Given the description of an element on the screen output the (x, y) to click on. 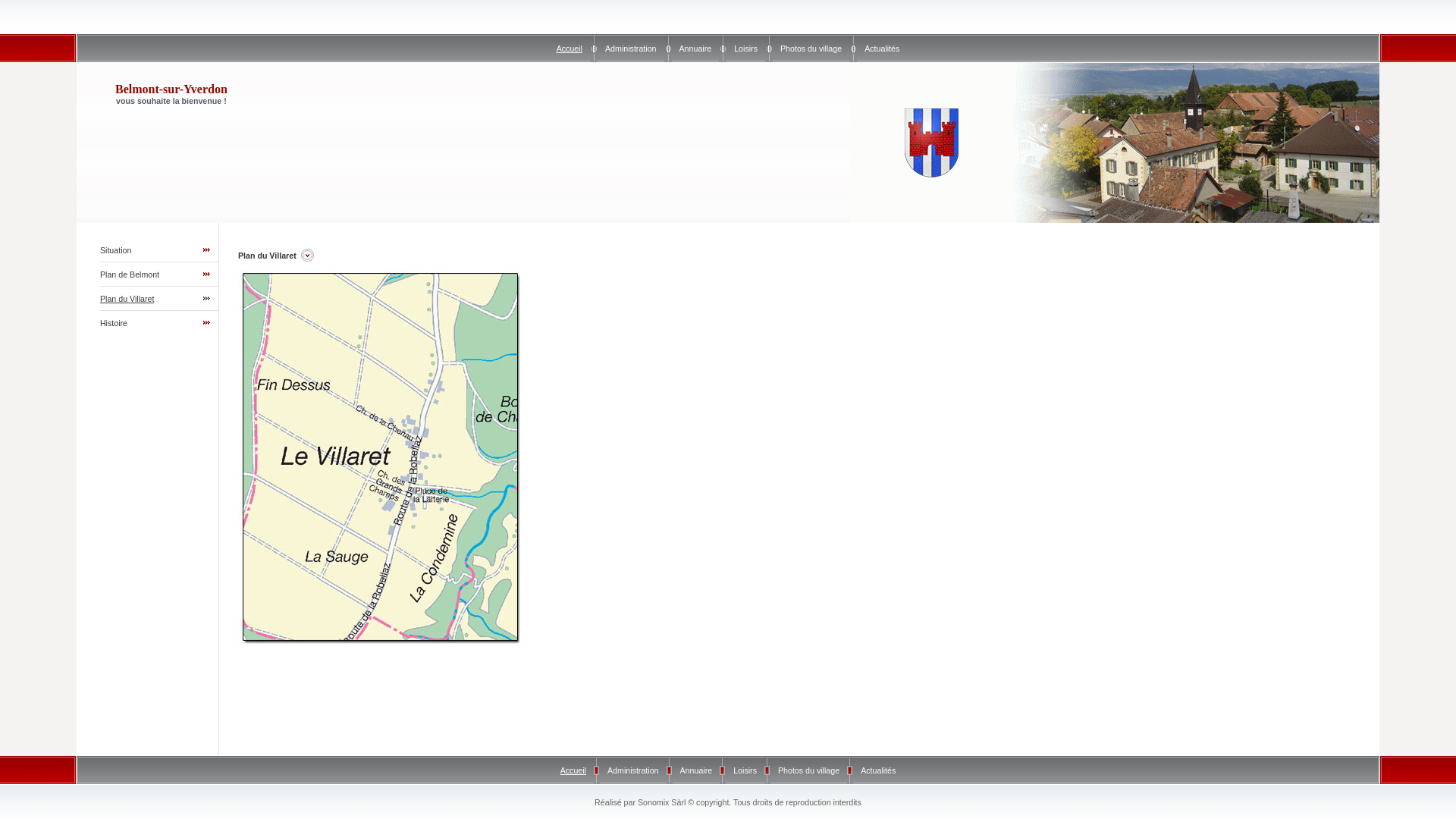
Photos du village Element type: text (808, 770)
Annuaire Element type: text (695, 48)
Plan de Belmont Element type: text (129, 274)
Administration Element type: text (630, 48)
Administration Element type: text (632, 770)
Annuaire Element type: text (696, 770)
Photos du village Element type: text (810, 48)
Histoire Element type: text (113, 322)
Accueil Element type: text (573, 770)
Situation Element type: text (115, 249)
Accueil Element type: text (569, 48)
Loisirs Element type: text (745, 48)
Loisirs Element type: text (744, 770)
